Given the description of an element on the screen output the (x, y) to click on. 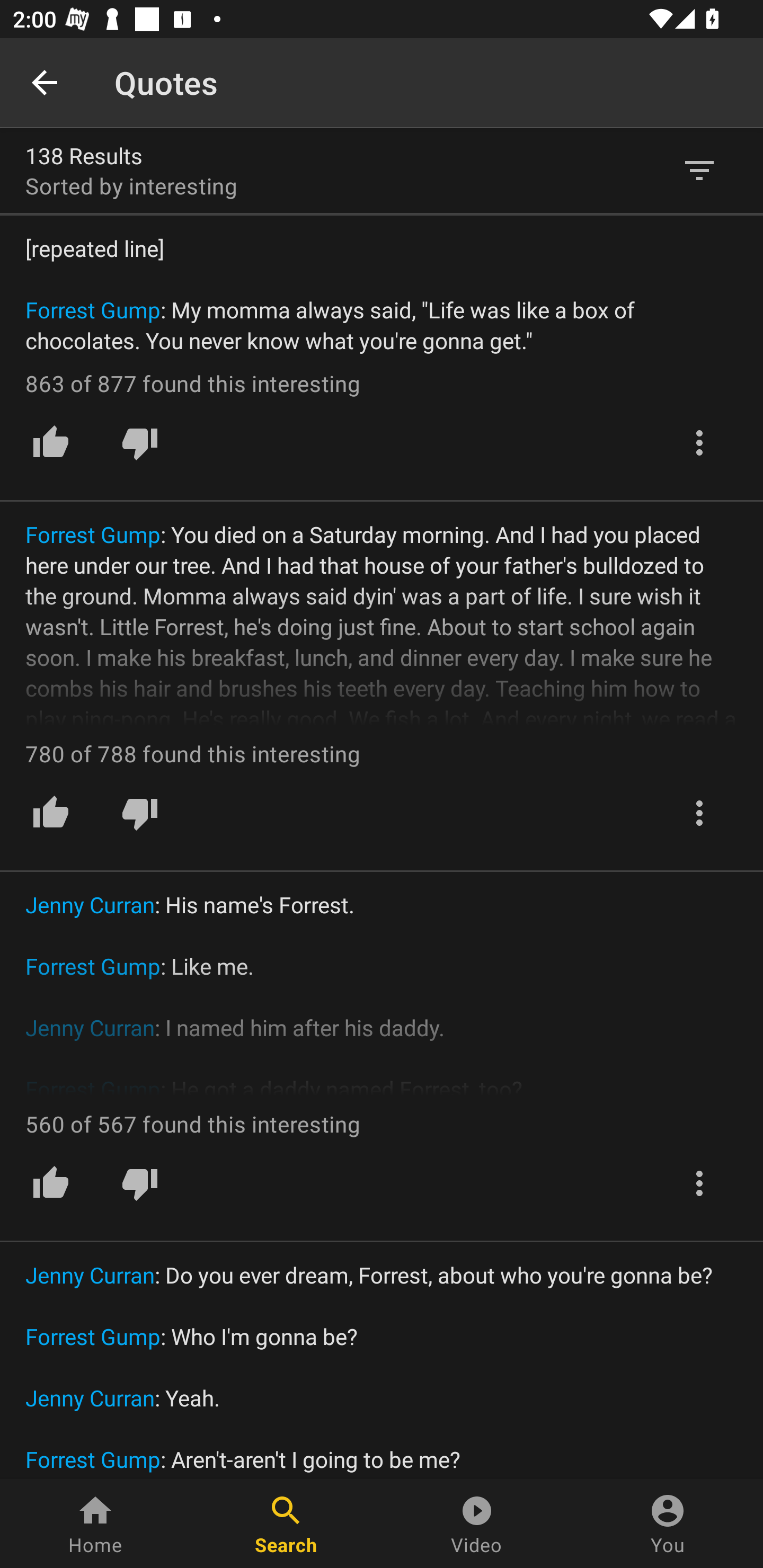
Home (95, 1523)
Video (476, 1523)
You (667, 1523)
